Given the description of an element on the screen output the (x, y) to click on. 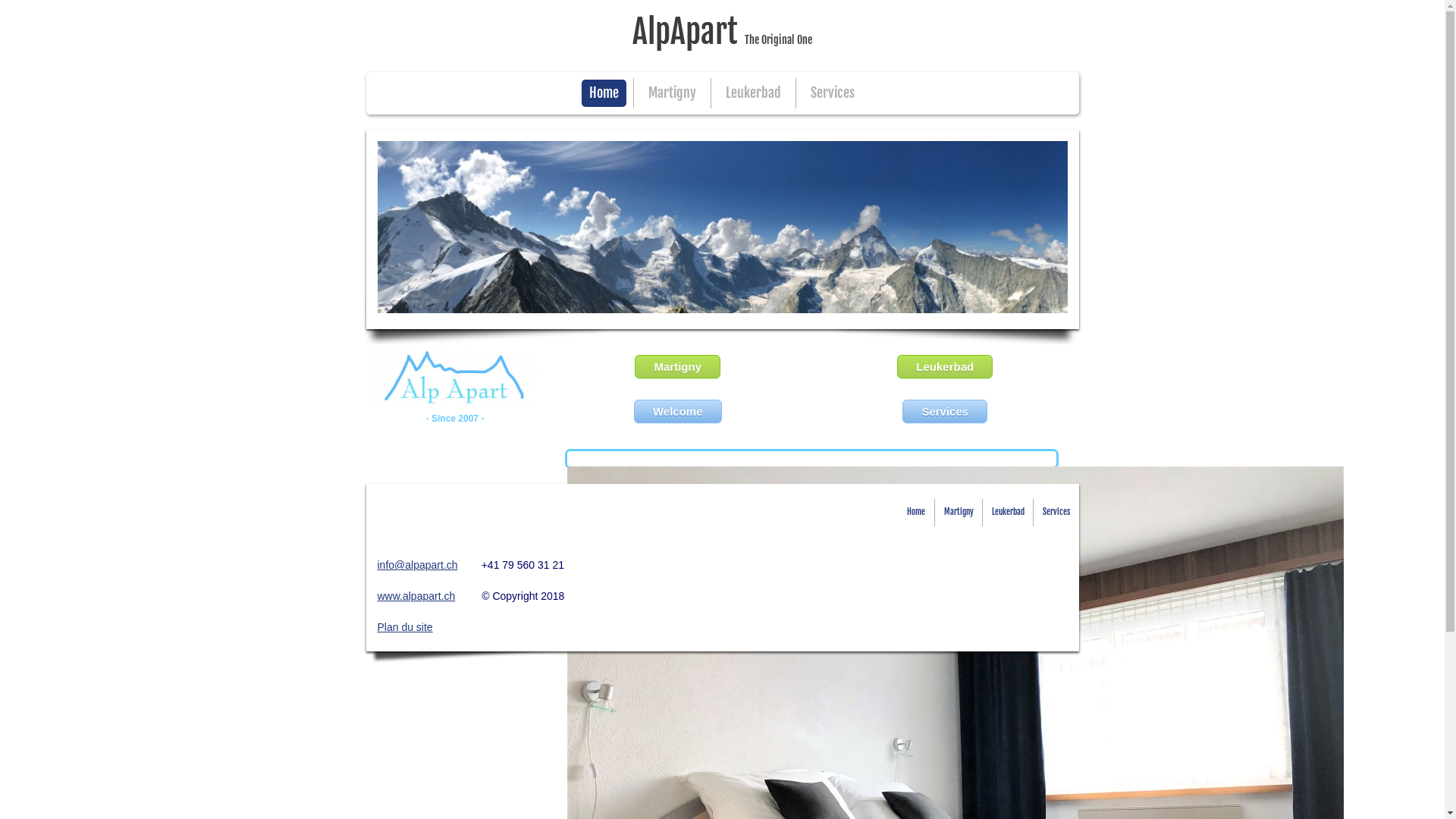
Plan du site Element type: text (405, 627)
Services Element type: text (1056, 511)
Leukerbad Element type: text (1008, 511)
AlpApart The Original One Element type: text (721, 36)
Home Element type: text (915, 511)
www.alpapart.ch Element type: text (416, 595)
info@alpapart.ch Element type: text (417, 564)
Martigny Element type: text (958, 511)
Welcome Element type: text (677, 411)
Leukerbad Element type: text (753, 92)
Services Element type: text (944, 411)
Home Element type: text (603, 92)
Leukerbad Element type: text (944, 366)
Services Element type: text (832, 92)
Martigny Element type: text (677, 366)
Martigny Element type: text (671, 92)
